Given the description of an element on the screen output the (x, y) to click on. 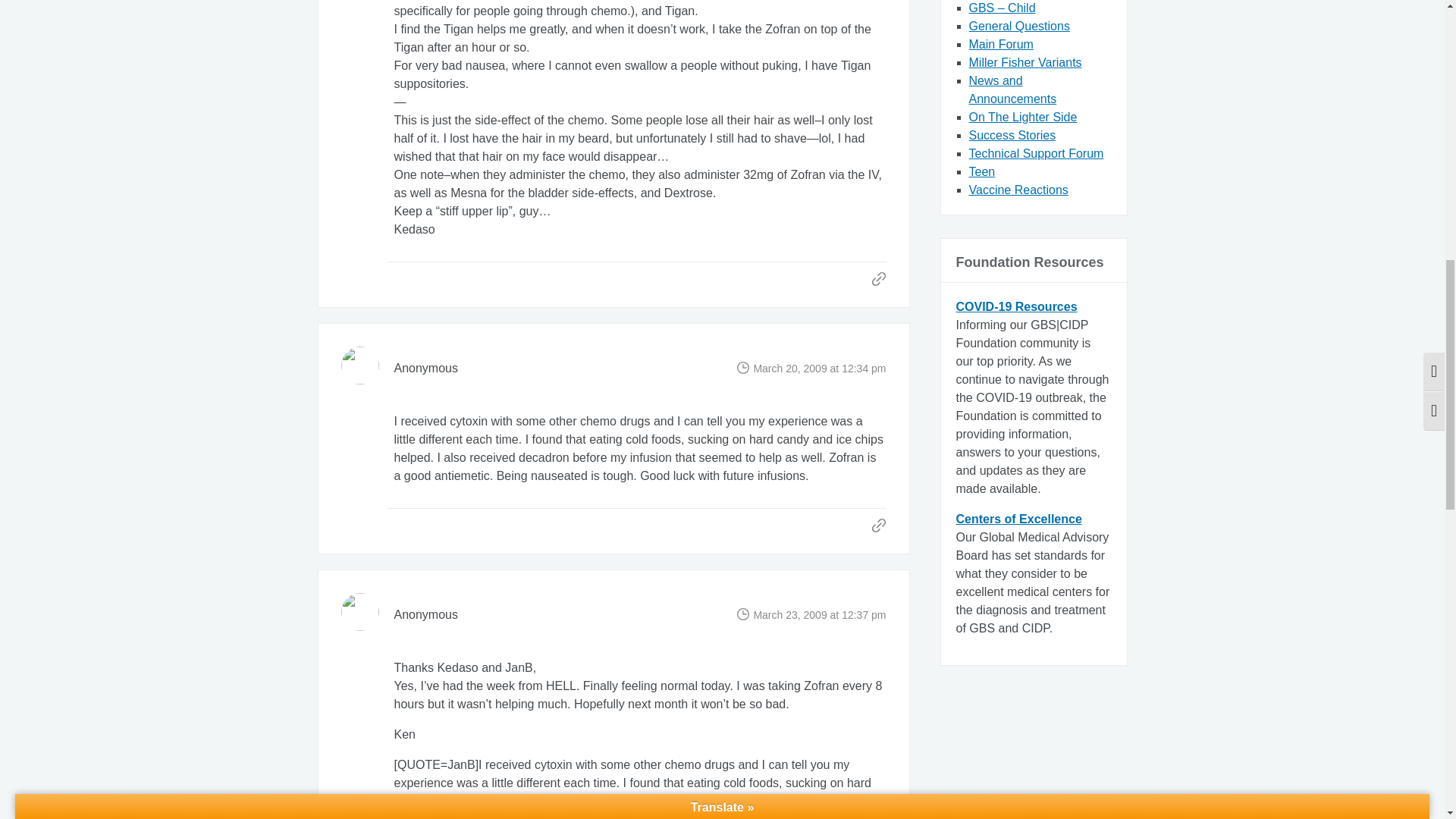
General Questions (1019, 25)
News and Announcements (1013, 89)
On The Lighter Side (1023, 116)
Miller Fisher Variants (1025, 62)
Main Forum (1001, 43)
